Given the description of an element on the screen output the (x, y) to click on. 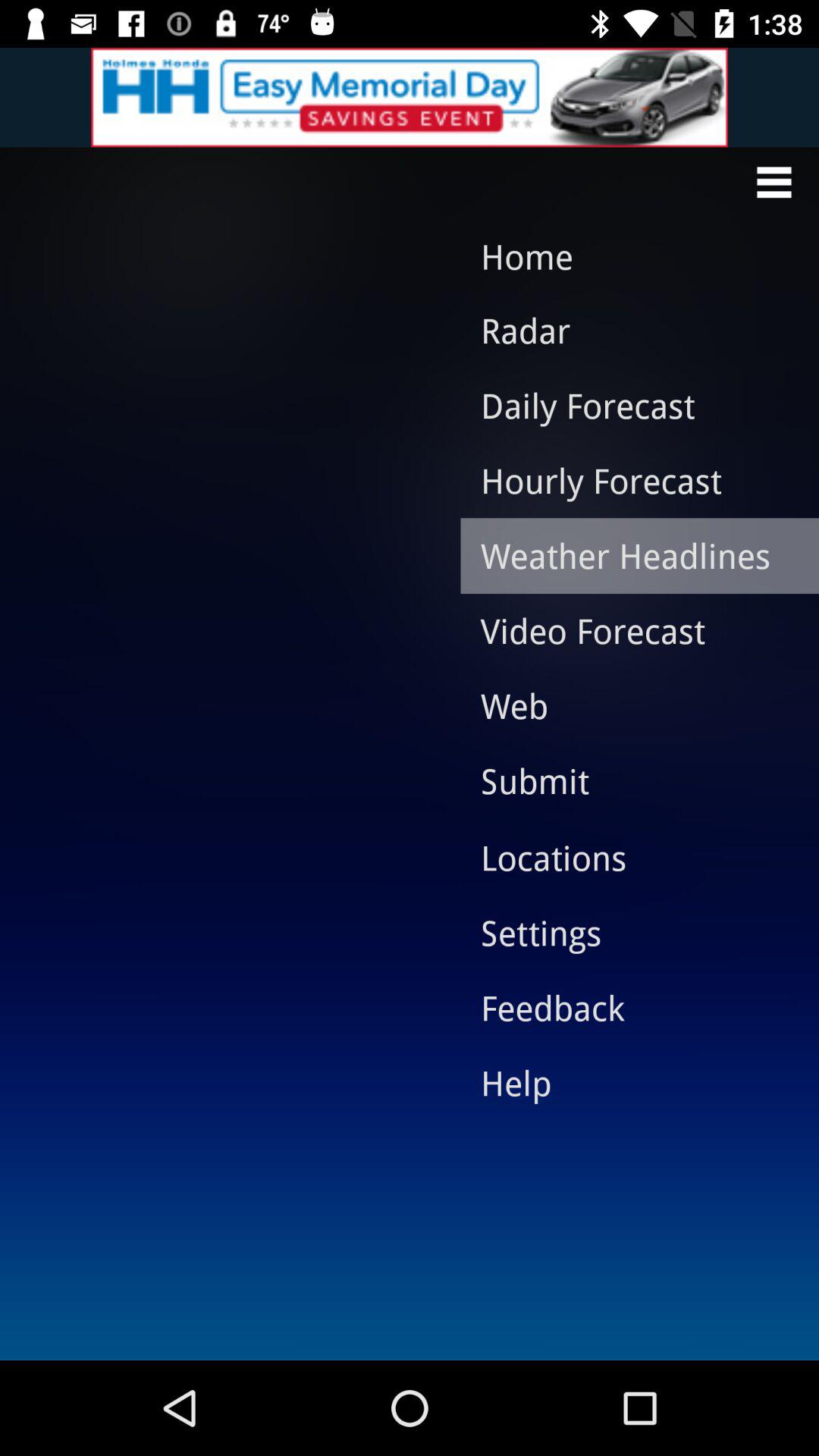
click the item above submit (627, 705)
